Given the description of an element on the screen output the (x, y) to click on. 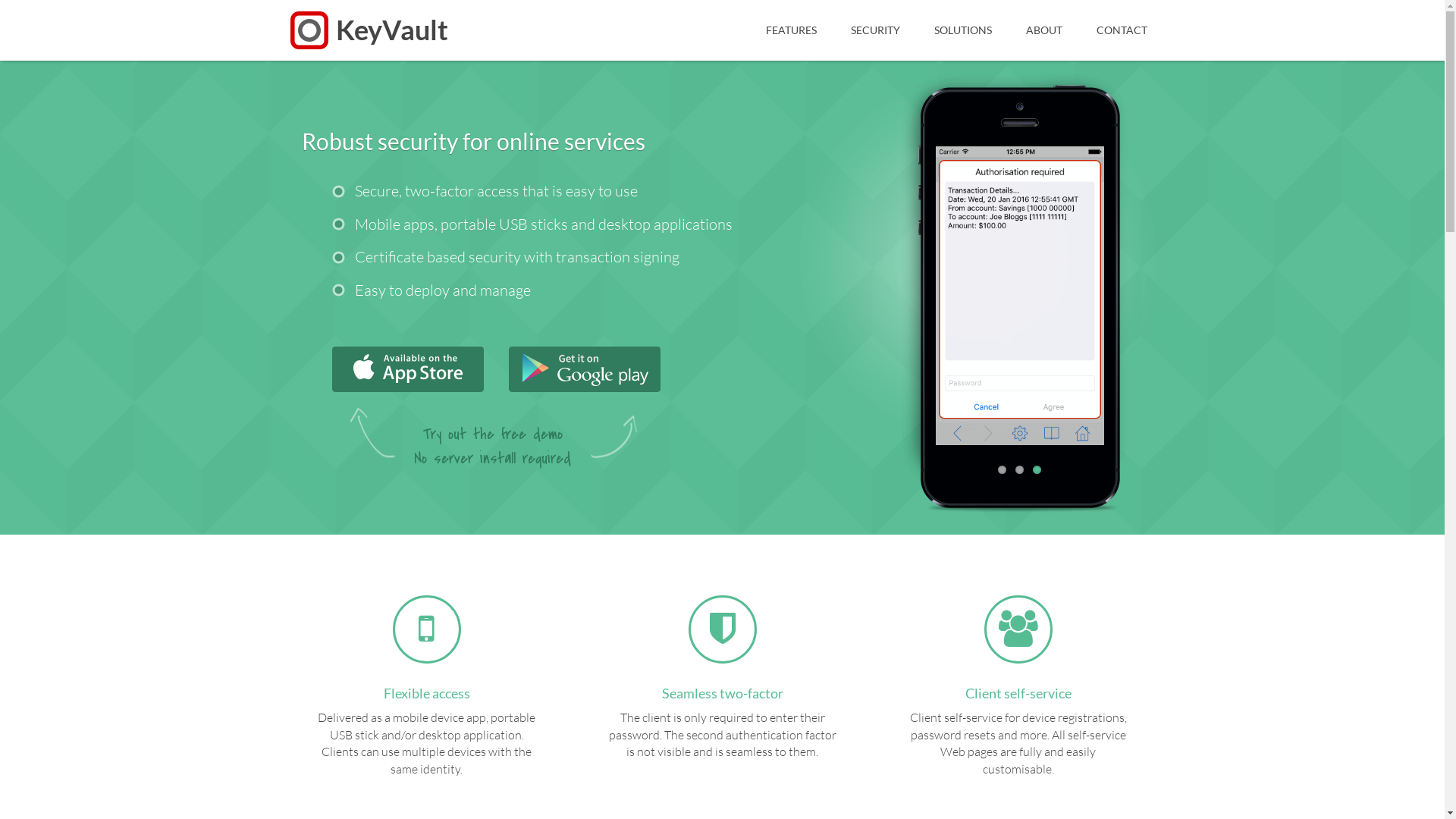
Download from the App Store Element type: text (407, 369)
1 Element type: text (1001, 469)
2 Element type: text (1019, 469)
SOLUTIONS Element type: text (963, 30)
3 Element type: text (1036, 469)
FEATURES Element type: text (790, 30)
KeyVault Element type: text (368, 27)
Get it from Google Play Element type: text (583, 369)
ABOUT Element type: text (1043, 30)
SECURITY Element type: text (875, 30)
CONTACT Element type: text (1121, 30)
HOME Element type: text (764, 29)
